Given the description of an element on the screen output the (x, y) to click on. 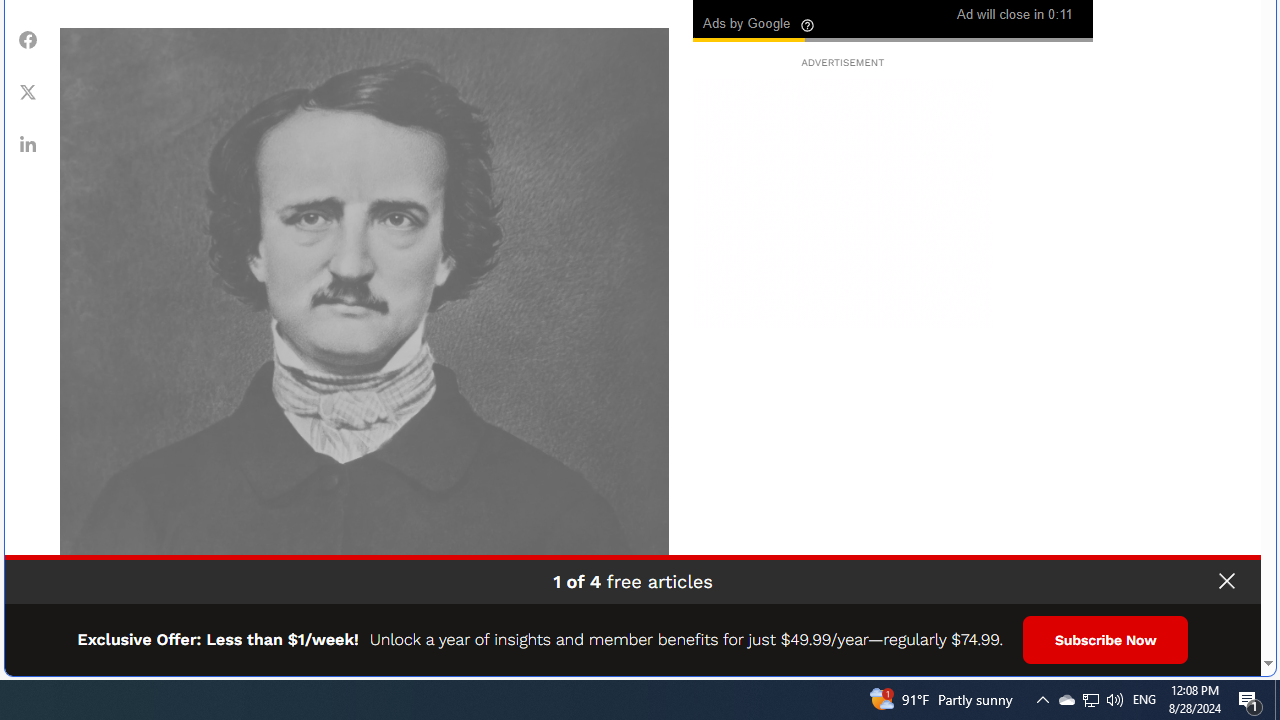
Class: cnx-color-icon (759, 12)
Class: wtaIconSvg (808, 25)
Seek (892, 38)
Class: fs-icon fs-icon--linkedin (28, 143)
Class: fs-icon fs-icon--xCorp (28, 91)
Class: article-sharing__item (28, 143)
Class: fs-icon fs-icon--Facebook (27, 39)
Share Linkedin (28, 143)
Class: close-button unbutton (1226, 581)
Privacy (1209, 653)
Share Facebook (28, 39)
Share Twitter (28, 91)
Subscribe Now (1105, 639)
Portrait of Edgar Allan Poe. (364, 332)
